Given the description of an element on the screen output the (x, y) to click on. 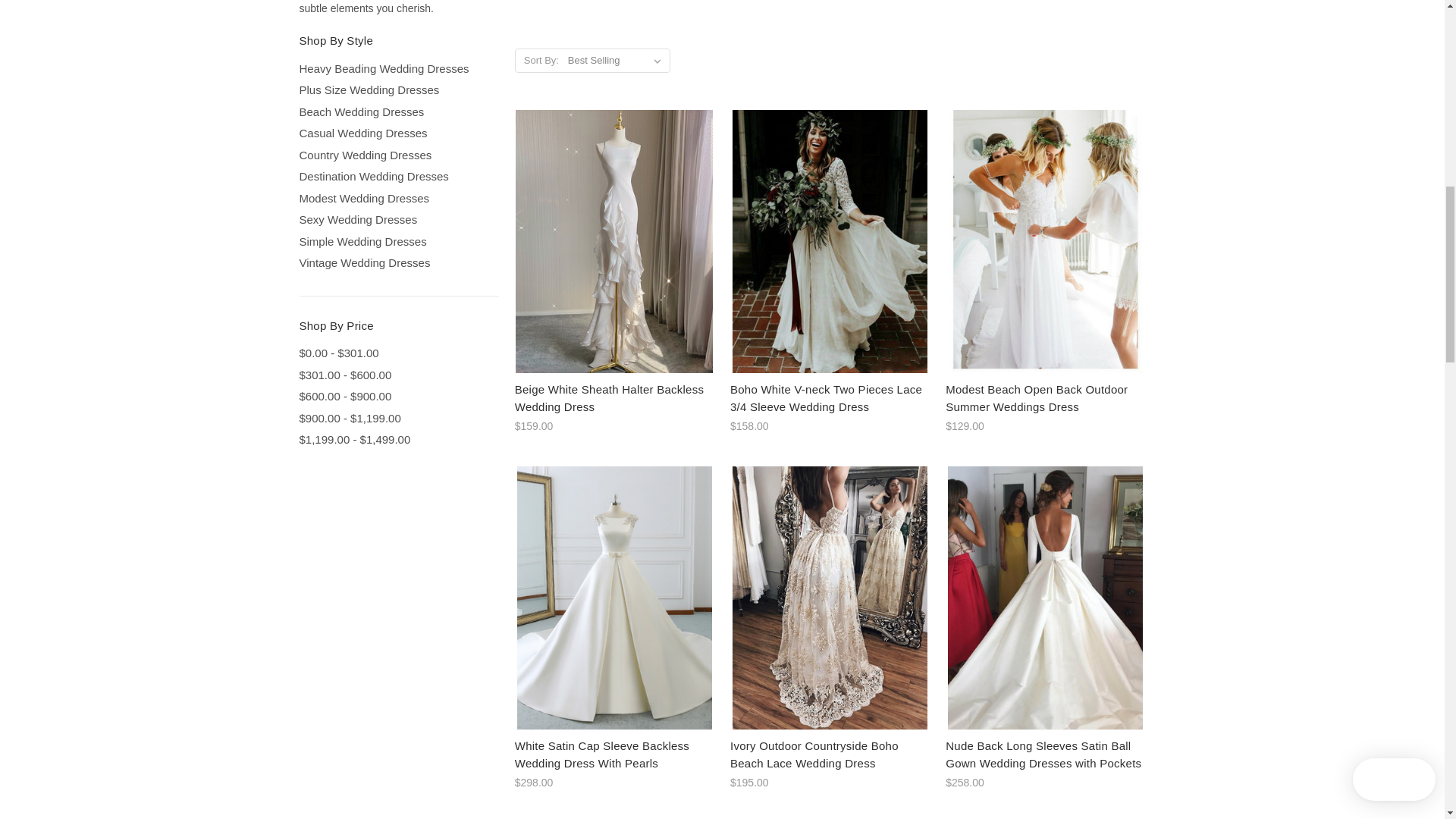
Country Wedding Dresses (397, 155)
Destination Wedding Dresses (397, 177)
Casual Wedding Dresses (397, 133)
Heavy Beading Wedding Dresses (397, 69)
Plus Size Wedding Dresses (397, 90)
Beach Wedding Dresses (397, 112)
Modest Wedding Dresses (397, 198)
Sexy Wedding Dresses (397, 219)
Vintage Wedding Dresses (397, 263)
Simple Wedding Dresses (397, 241)
